Given the description of an element on the screen output the (x, y) to click on. 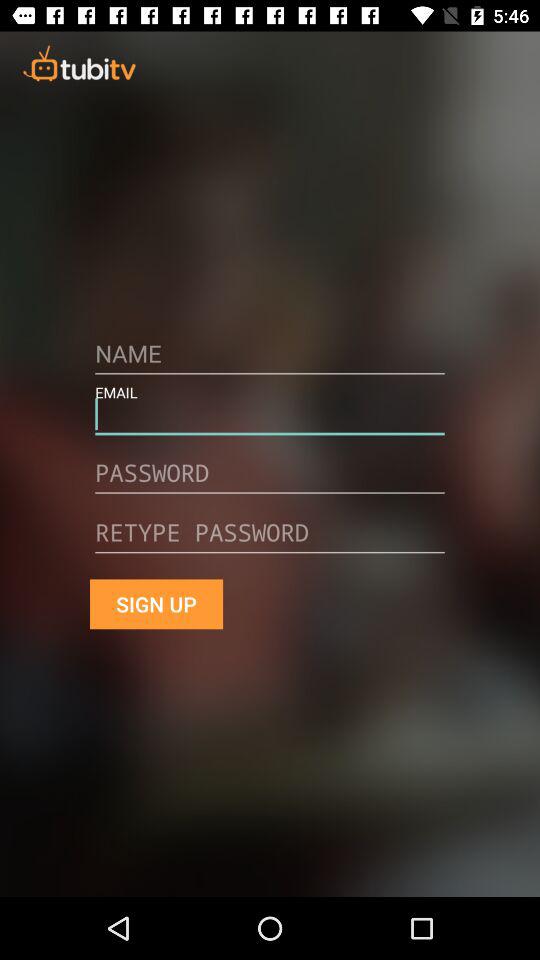
insert password for login (270, 480)
